Given the description of an element on the screen output the (x, y) to click on. 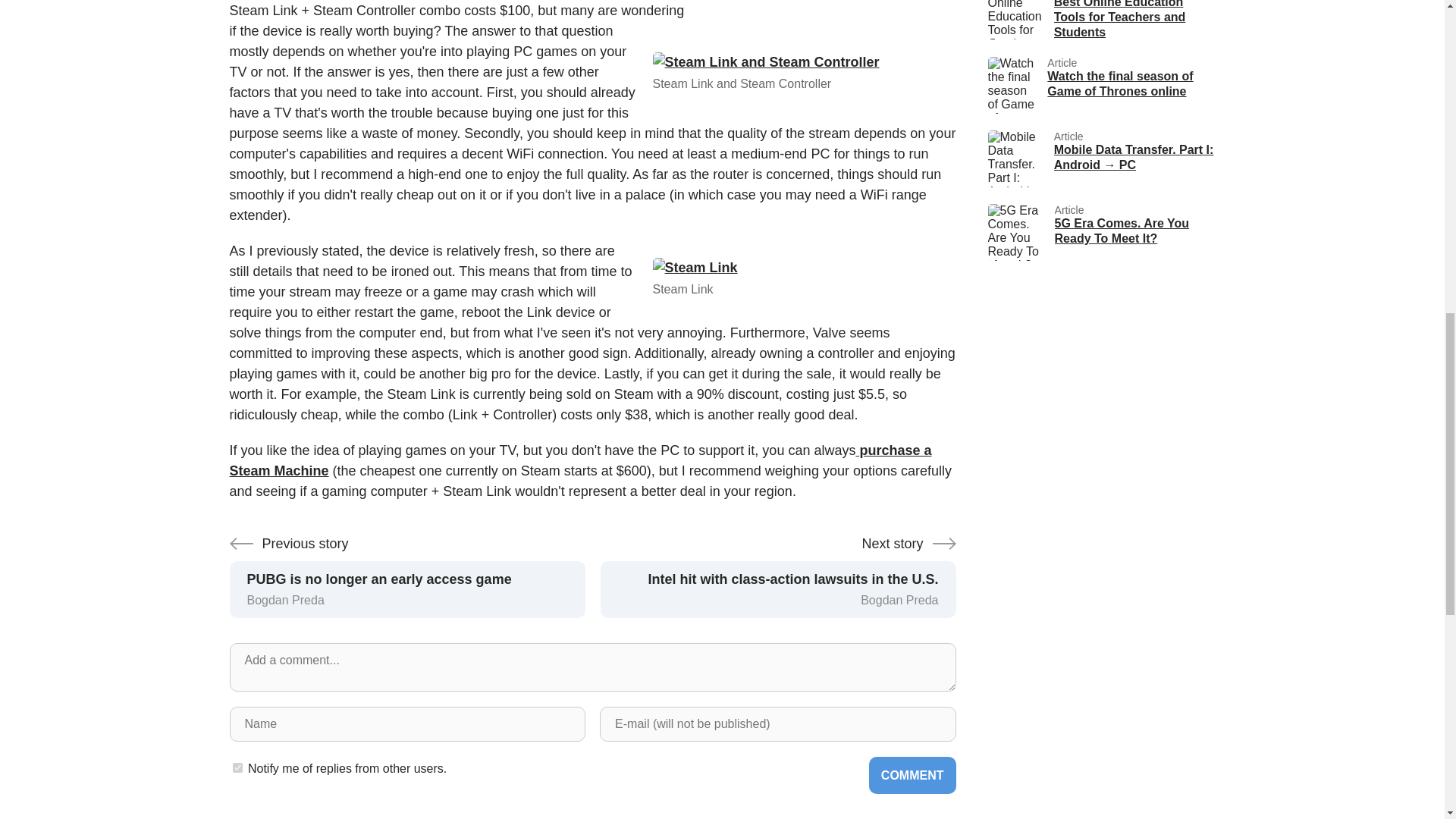
Steam Link and Steam Controller (1100, 84)
1 (803, 62)
Comment (236, 767)
Steam Link (912, 774)
purchase a Steam Machine (803, 267)
